Given the description of an element on the screen output the (x, y) to click on. 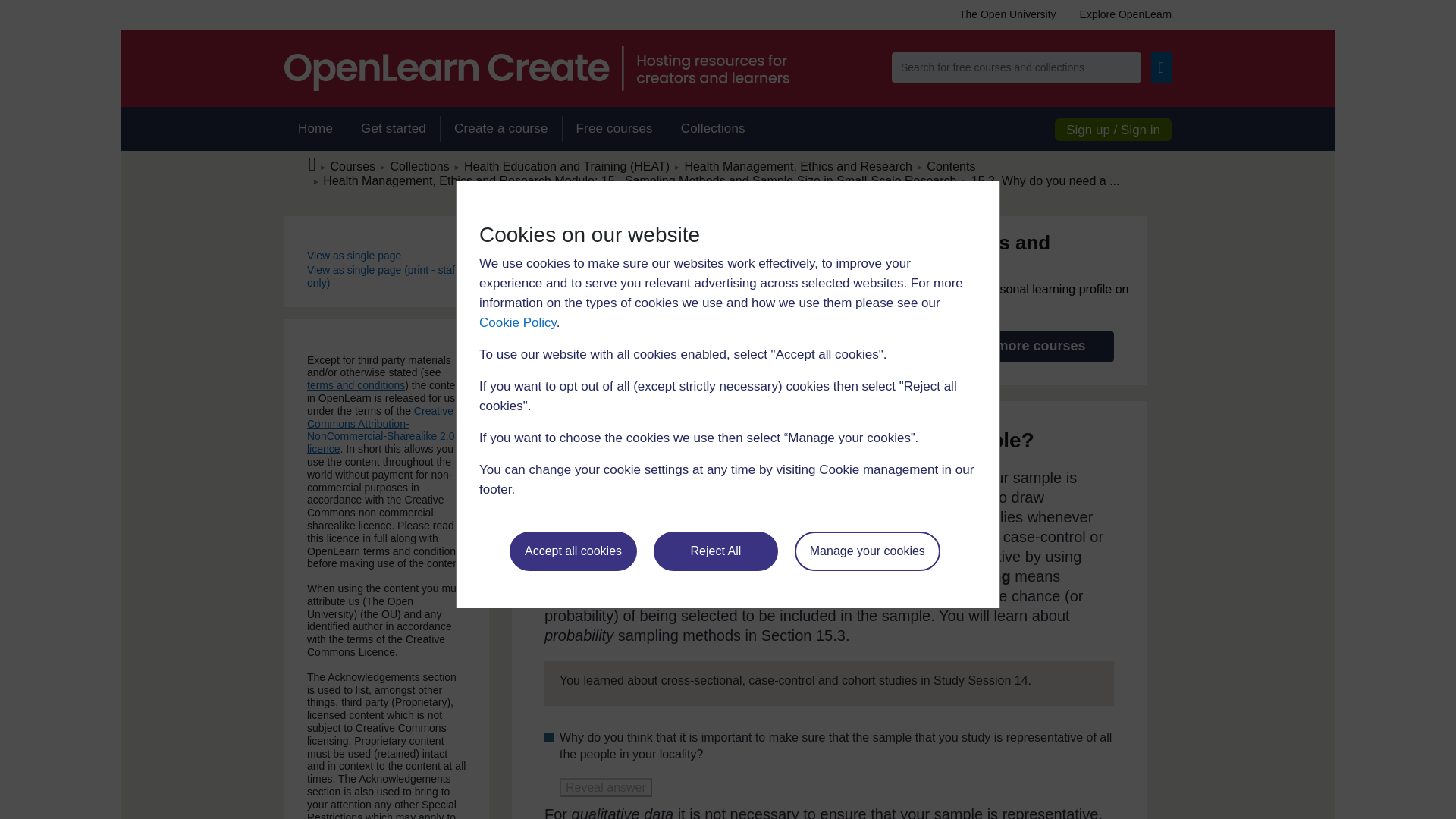
The Open University (1007, 14)
Home (314, 128)
Free courses (614, 128)
Get started (392, 128)
Manage your cookies (867, 550)
SC Web Editor (639, 180)
Cookie Policy (517, 322)
OpenLearn Create (536, 67)
The Open University (1007, 14)
Create a course (500, 128)
Explore OpenLearn (1119, 14)
Reject All (715, 550)
Collections (712, 128)
Explore OpenLearn (1119, 14)
Accept all cookies (573, 550)
